Given the description of an element on the screen output the (x, y) to click on. 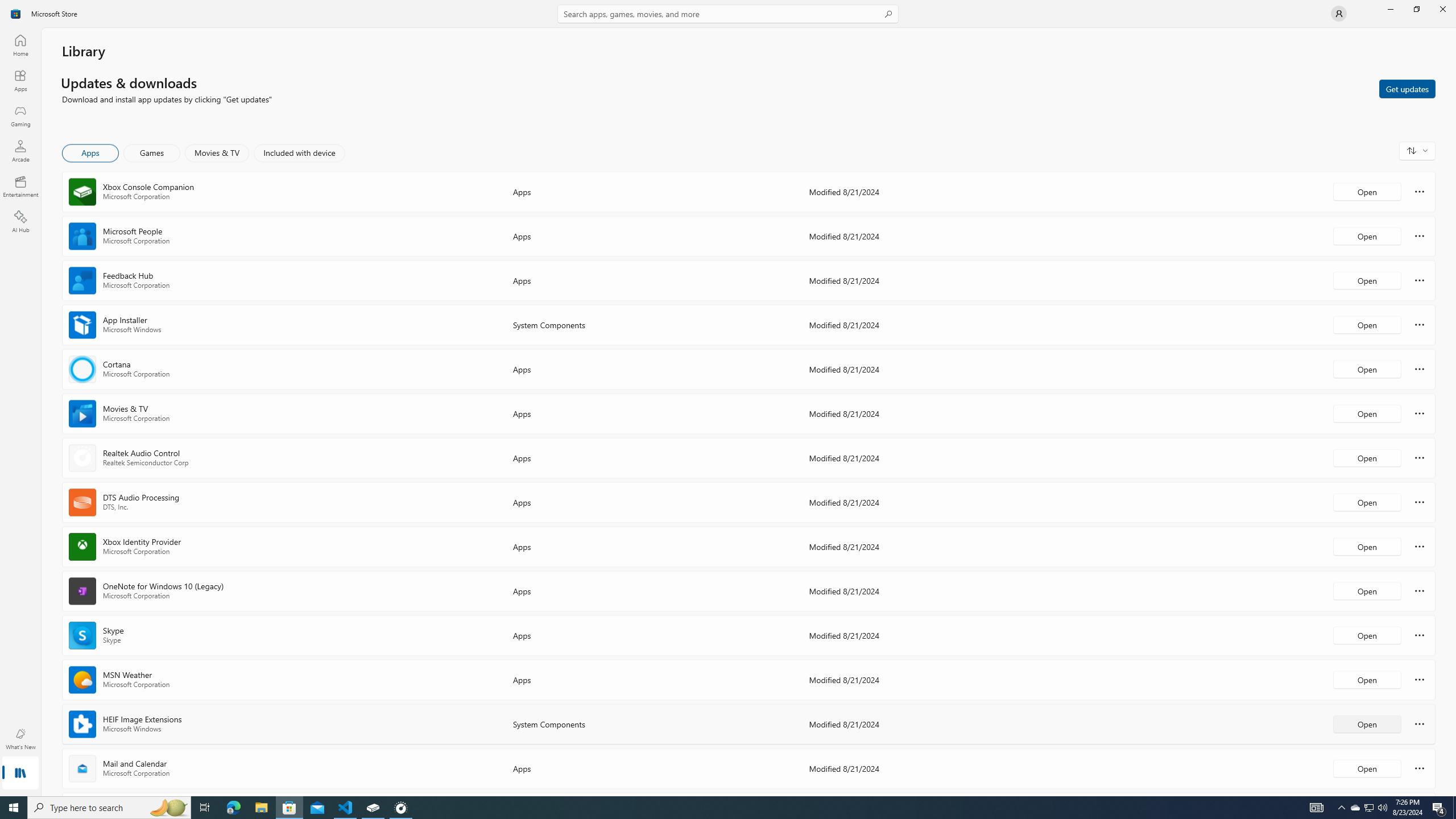
Close Microsoft Store (1442, 9)
Arcade (20, 150)
Sort and filter (1417, 149)
Search (727, 13)
Movies & TV (216, 153)
Entertainment (20, 185)
Library (20, 773)
AutomationID: NavigationControl (728, 398)
Apps (90, 153)
Class: Image (15, 13)
Restore Microsoft Store (1416, 9)
What's New (20, 738)
Games (151, 153)
Gaming (20, 115)
Apps (20, 80)
